Given the description of an element on the screen output the (x, y) to click on. 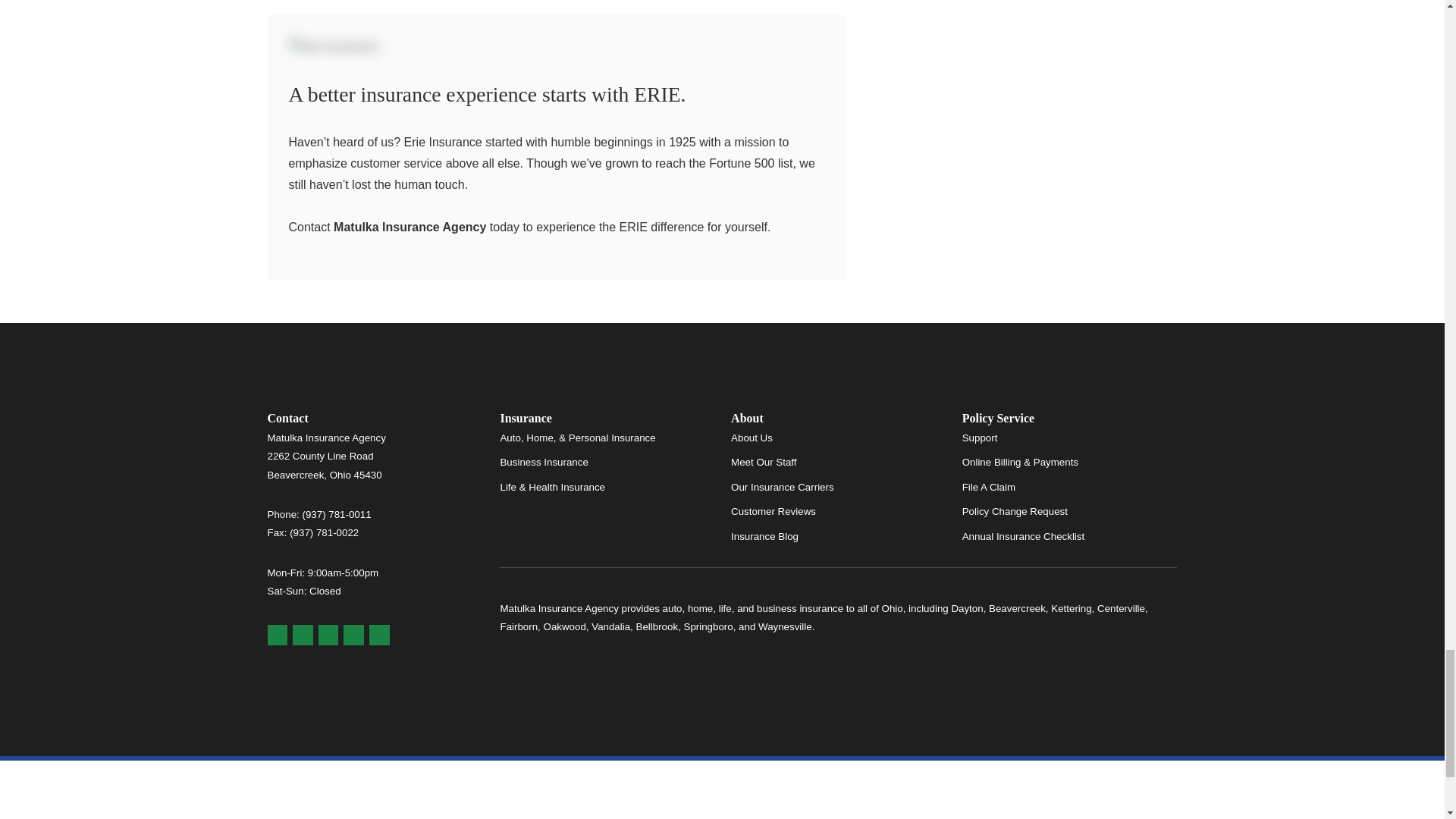
X (353, 634)
Google Maps (276, 634)
LinkedIn (379, 634)
Facebook (328, 634)
Yelp (302, 634)
